Given the description of an element on the screen output the (x, y) to click on. 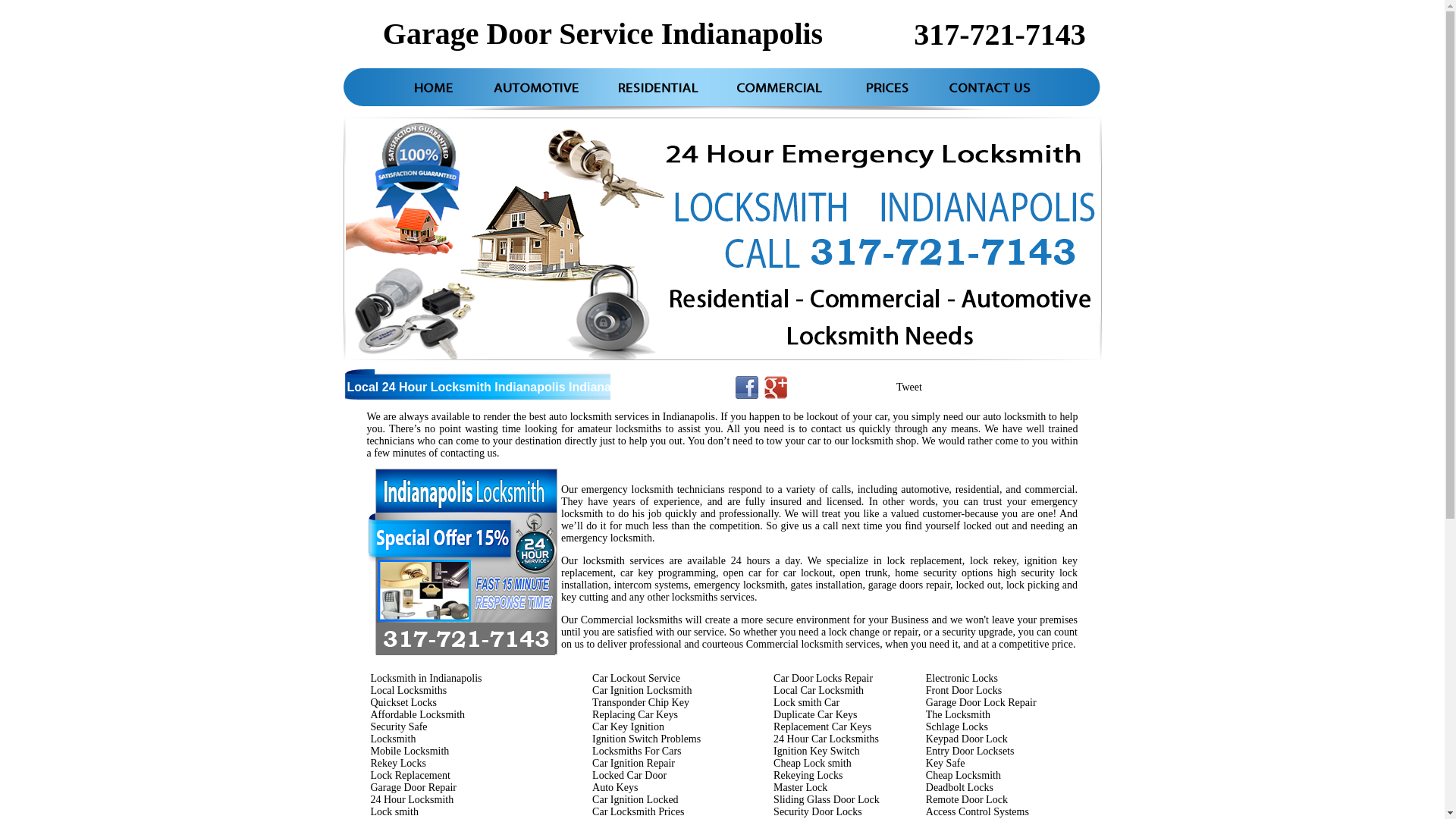
317-721-7143 Element type: text (999, 34)
Tweet Element type: text (909, 386)
